Given the description of an element on the screen output the (x, y) to click on. 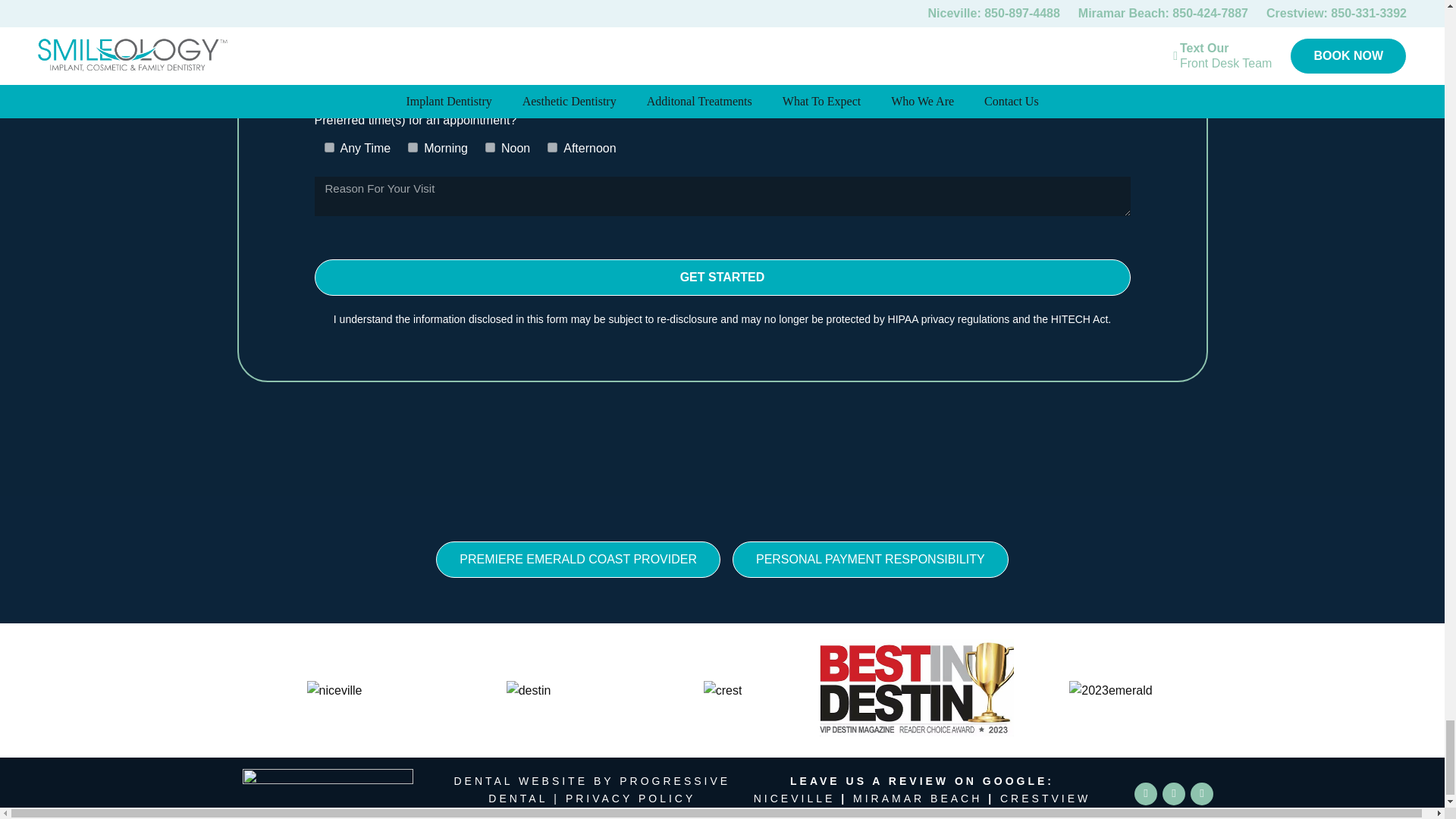
Any Day (329, 69)
Morning (412, 147)
Tuesday (484, 69)
Wednesday (564, 69)
Afternoon (552, 147)
Noon (489, 147)
Thursday (661, 69)
Any Time (329, 147)
Monday (408, 69)
